Given the description of an element on the screen output the (x, y) to click on. 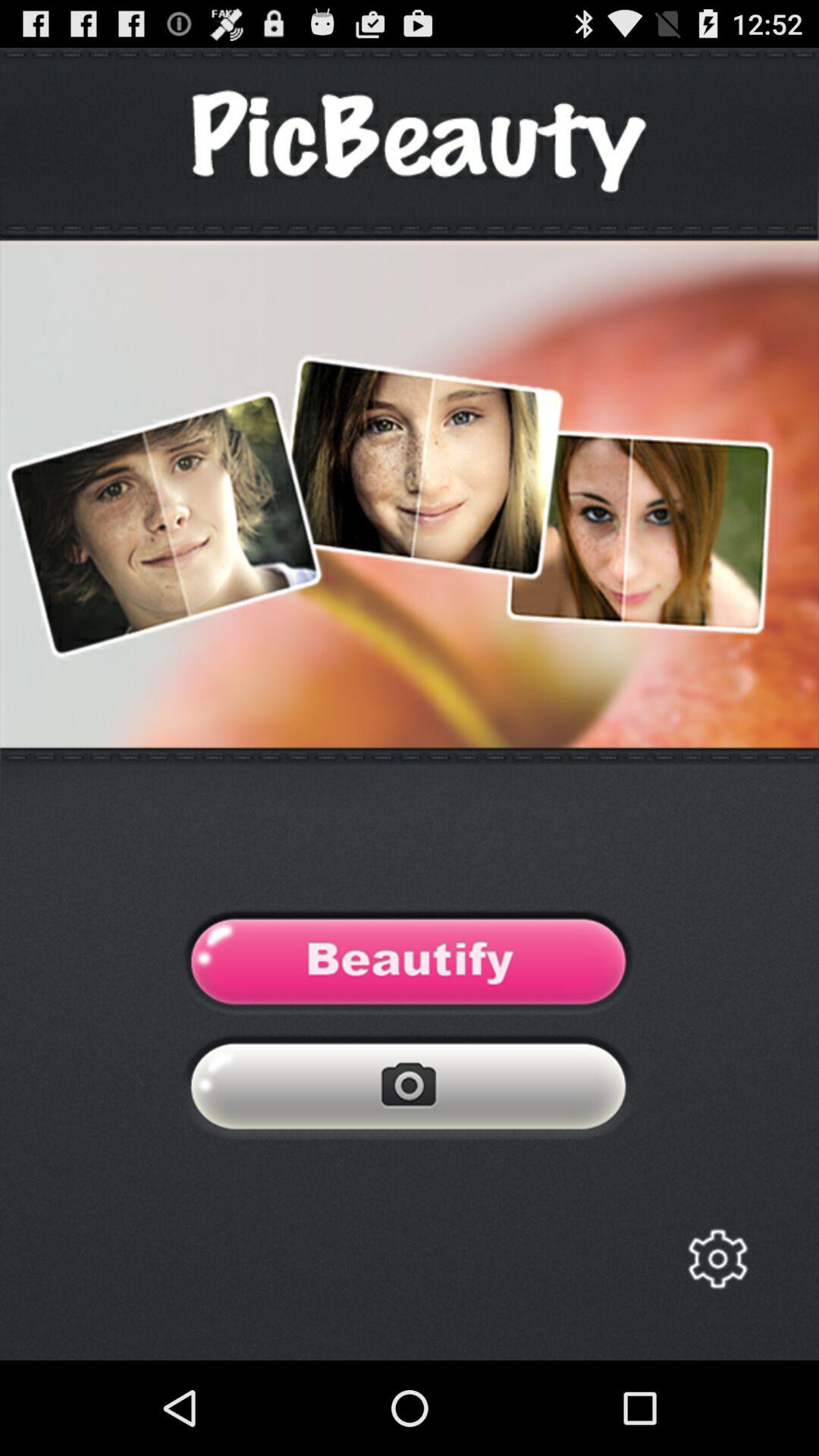
enhance the photos (408, 965)
